Given the description of an element on the screen output the (x, y) to click on. 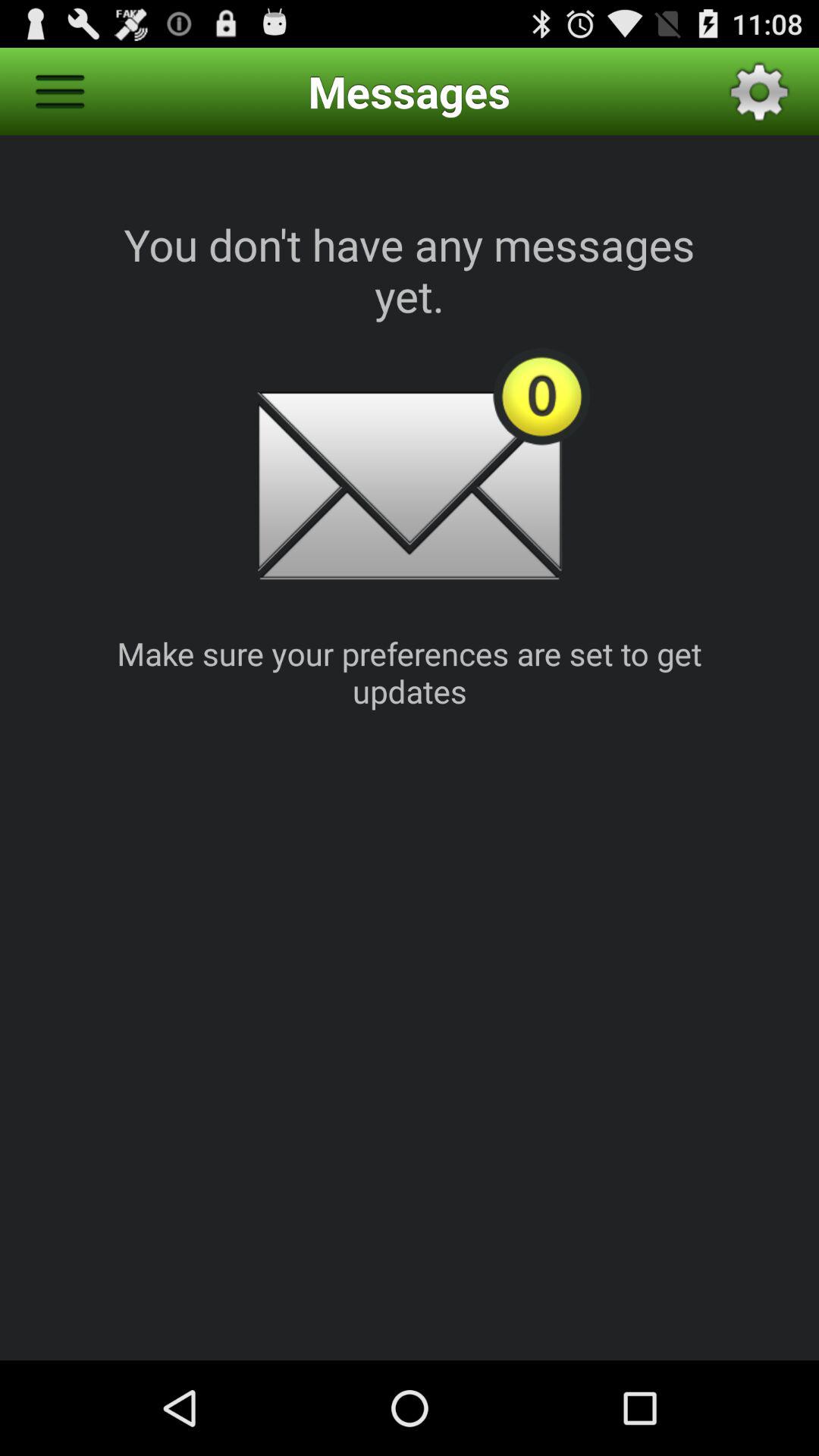
click app to the left of the messages icon (59, 91)
